Given the description of an element on the screen output the (x, y) to click on. 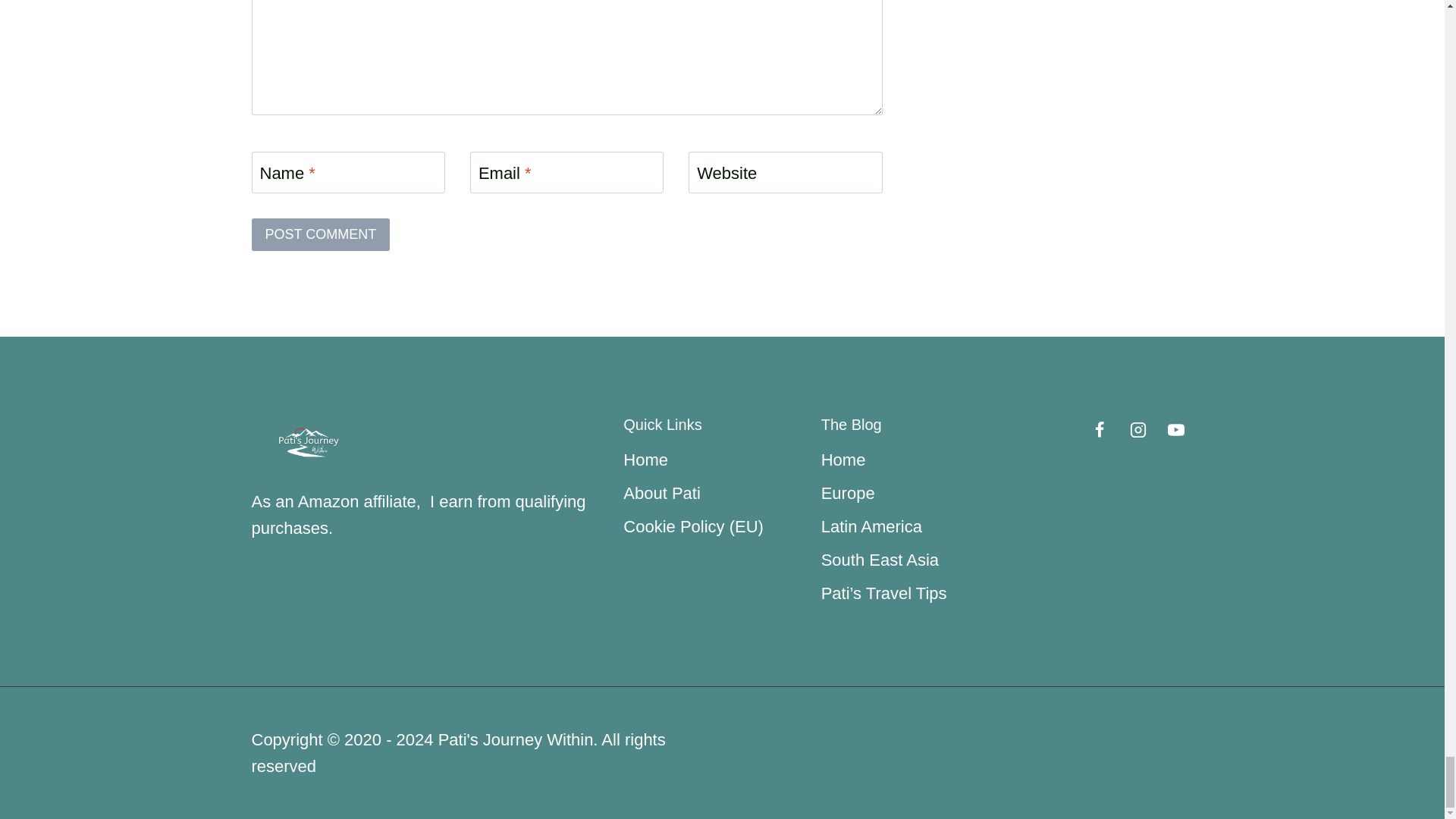
Post Comment (320, 234)
